Given the description of an element on the screen output the (x, y) to click on. 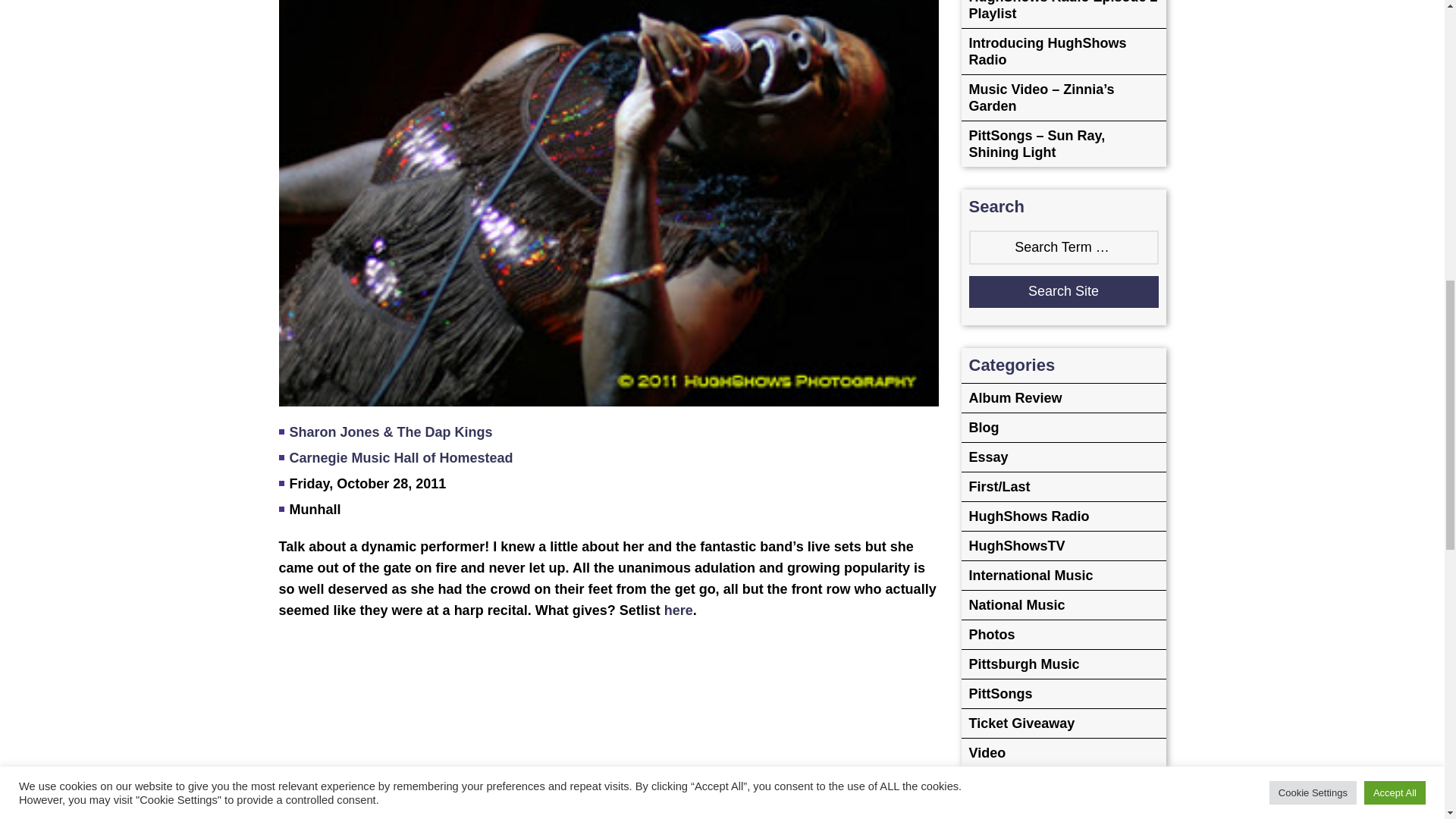
Essay (1063, 456)
HughShowsTV (1063, 545)
Introducing HughShows Radio (1063, 50)
Album Review (1063, 397)
here (678, 610)
Carnegie Music Hall of Homestead (401, 458)
Search Site (1063, 291)
Blog (1063, 427)
HughShows Radio (1063, 515)
International Music (1063, 574)
HughShows Radio Episode 2 Playlist (1063, 13)
